Given the description of an element on the screen output the (x, y) to click on. 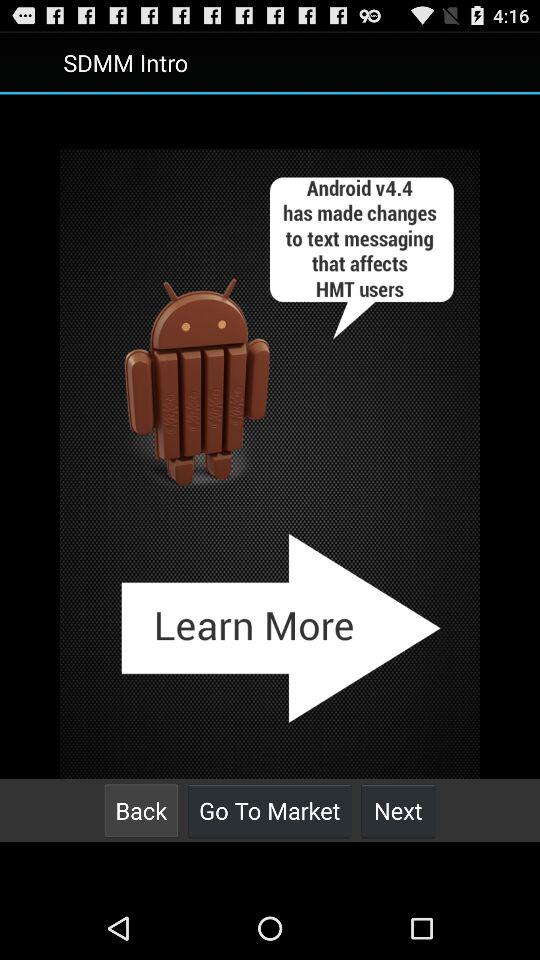
swipe to next (398, 810)
